Given the description of an element on the screen output the (x, y) to click on. 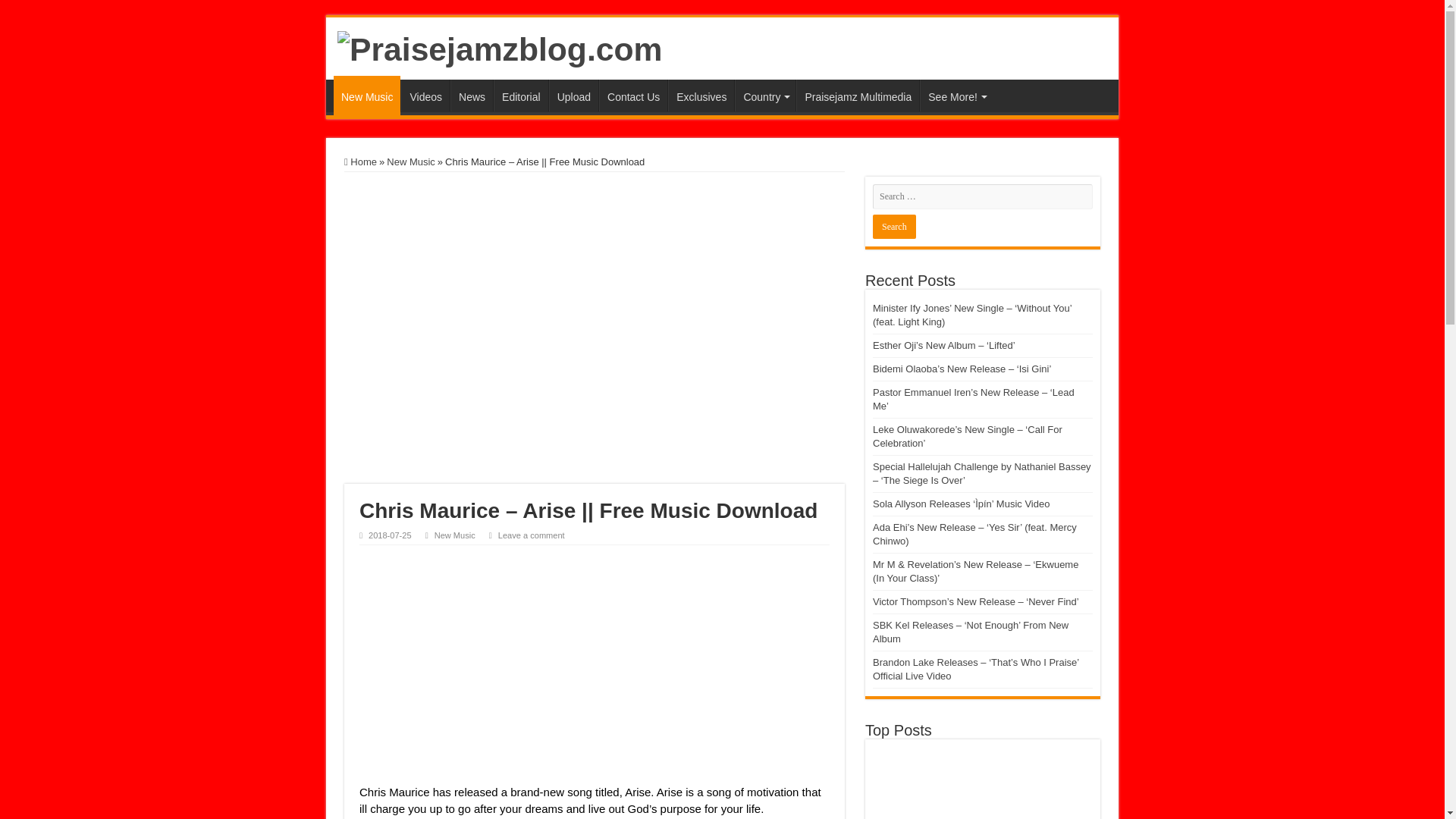
Videos (425, 95)
Country (764, 95)
Upload (573, 95)
Praisejamz Multimedia (857, 95)
See More! (956, 95)
Praisejamzblog.com (499, 46)
New Music (411, 161)
Home (360, 161)
Search (893, 226)
Contact Us (632, 95)
